Given the description of an element on the screen output the (x, y) to click on. 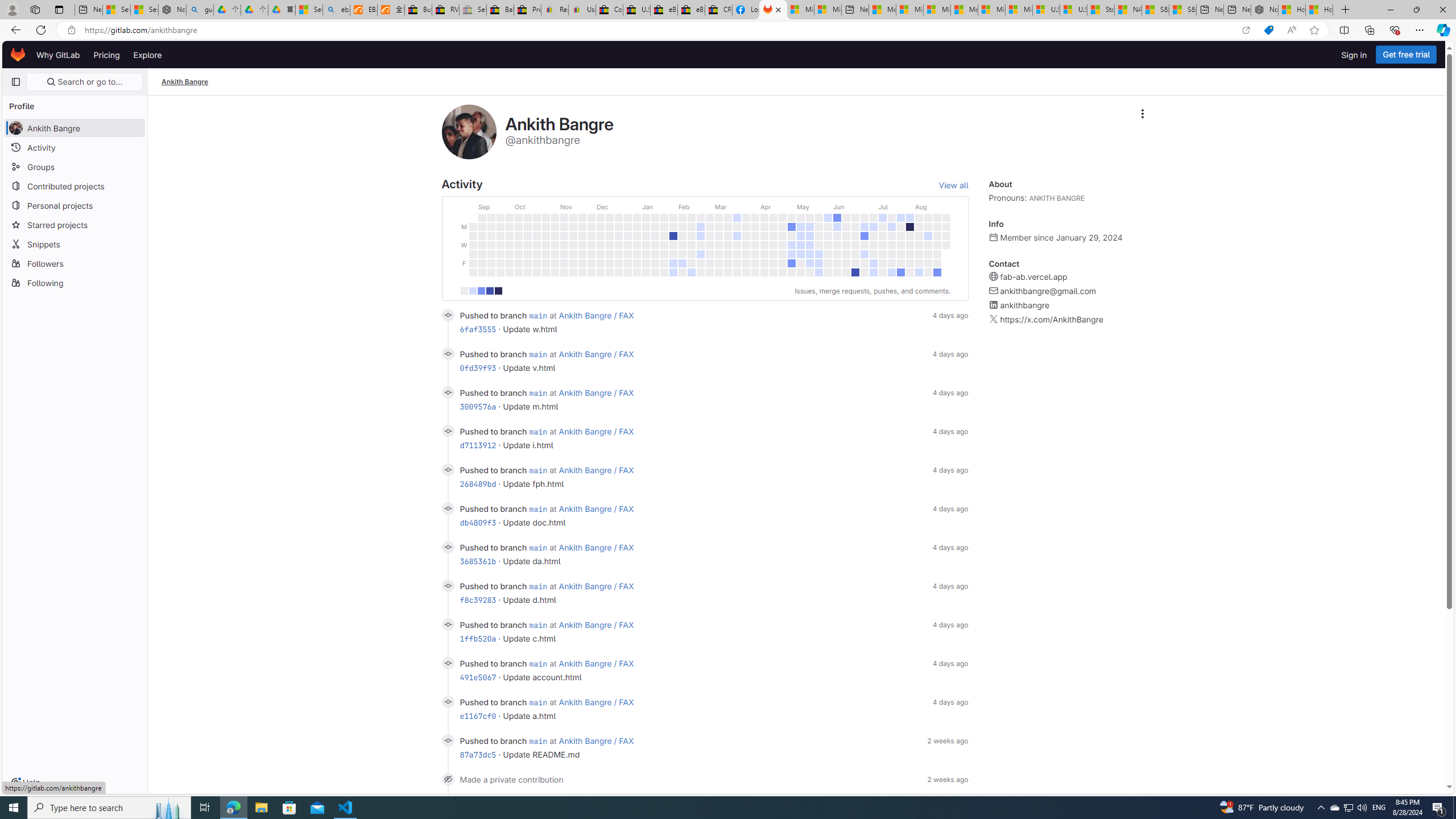
fab-ab.vercel.app (1033, 277)
main (537, 741)
eBay Inc. Reports Third Quarter 2023 Results (691, 9)
3685361b (478, 561)
